Given the description of an element on the screen output the (x, y) to click on. 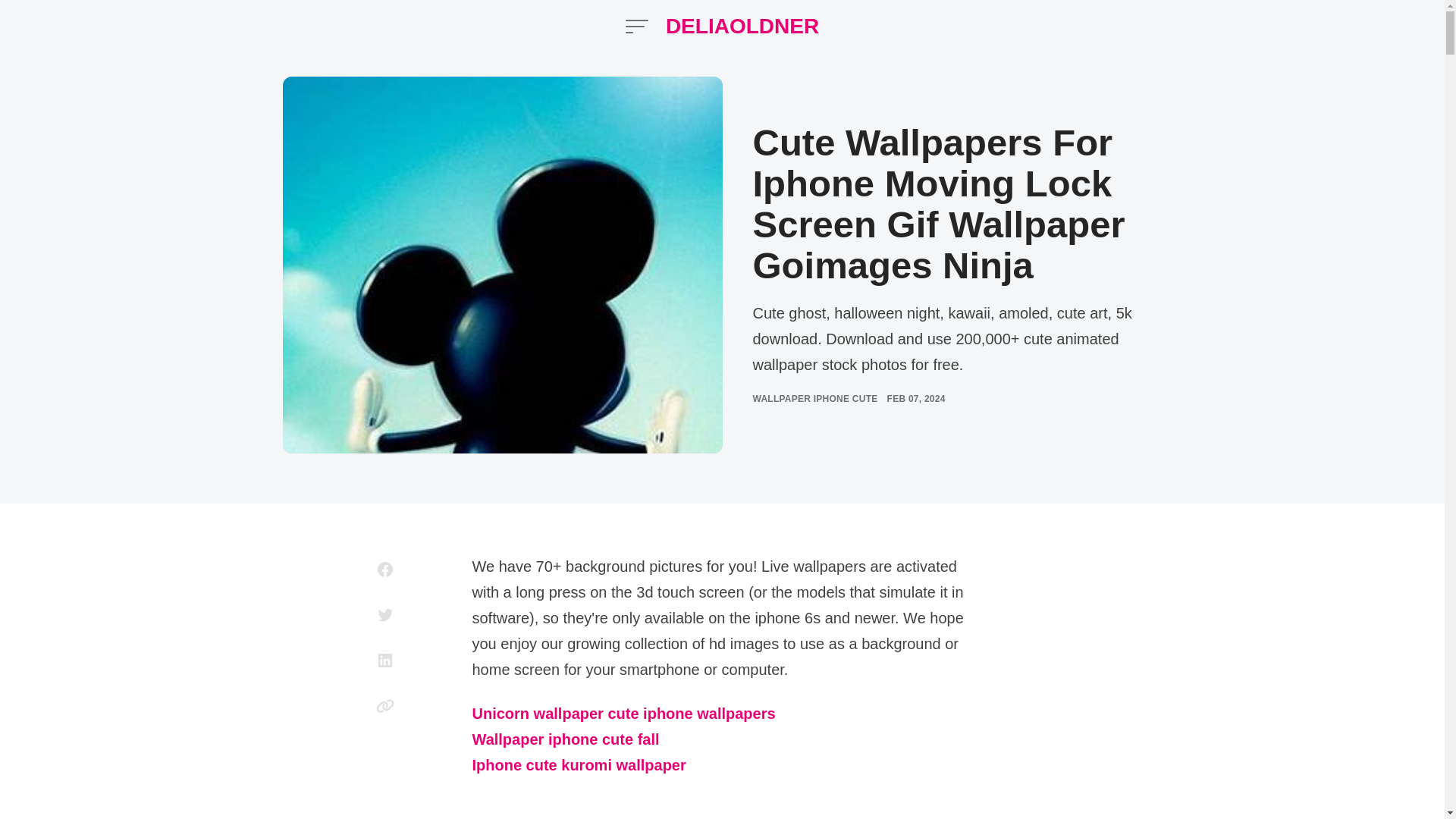
Wallpaper iphone cute fall (565, 740)
DELIAOLDNER (741, 26)
Share on LinkedIn (384, 660)
Share on Twitter (384, 615)
WALLPAPER IPHONE CUTE (814, 398)
Unicorn wallpaper cute iphone wallpapers (622, 714)
Copy link (384, 705)
Iphone cute kuromi wallpaper (578, 765)
Share on Facebook (384, 569)
